Given the description of an element on the screen output the (x, y) to click on. 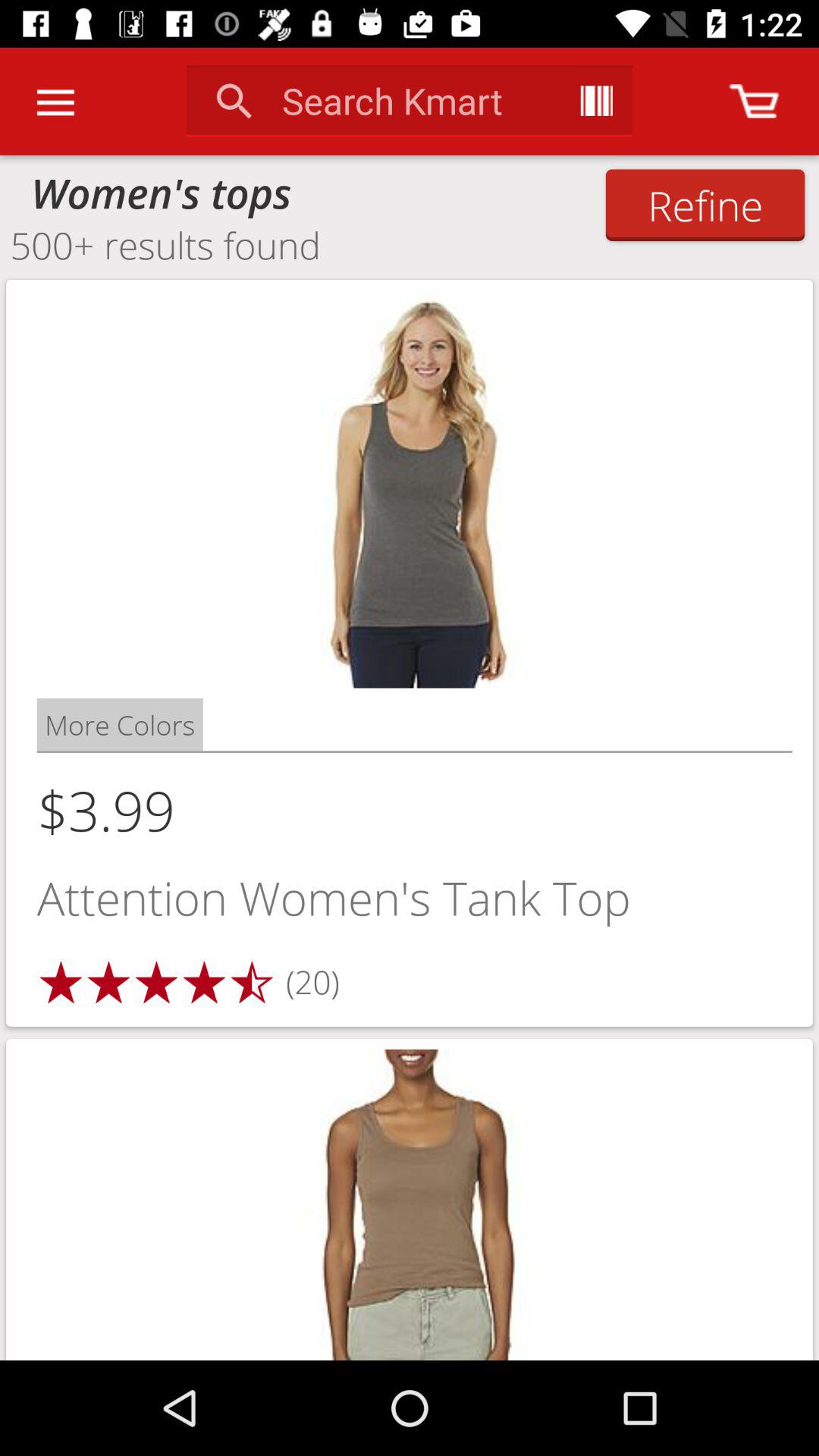
choose the item above the  women's tops icon (55, 102)
